Given the description of an element on the screen output the (x, y) to click on. 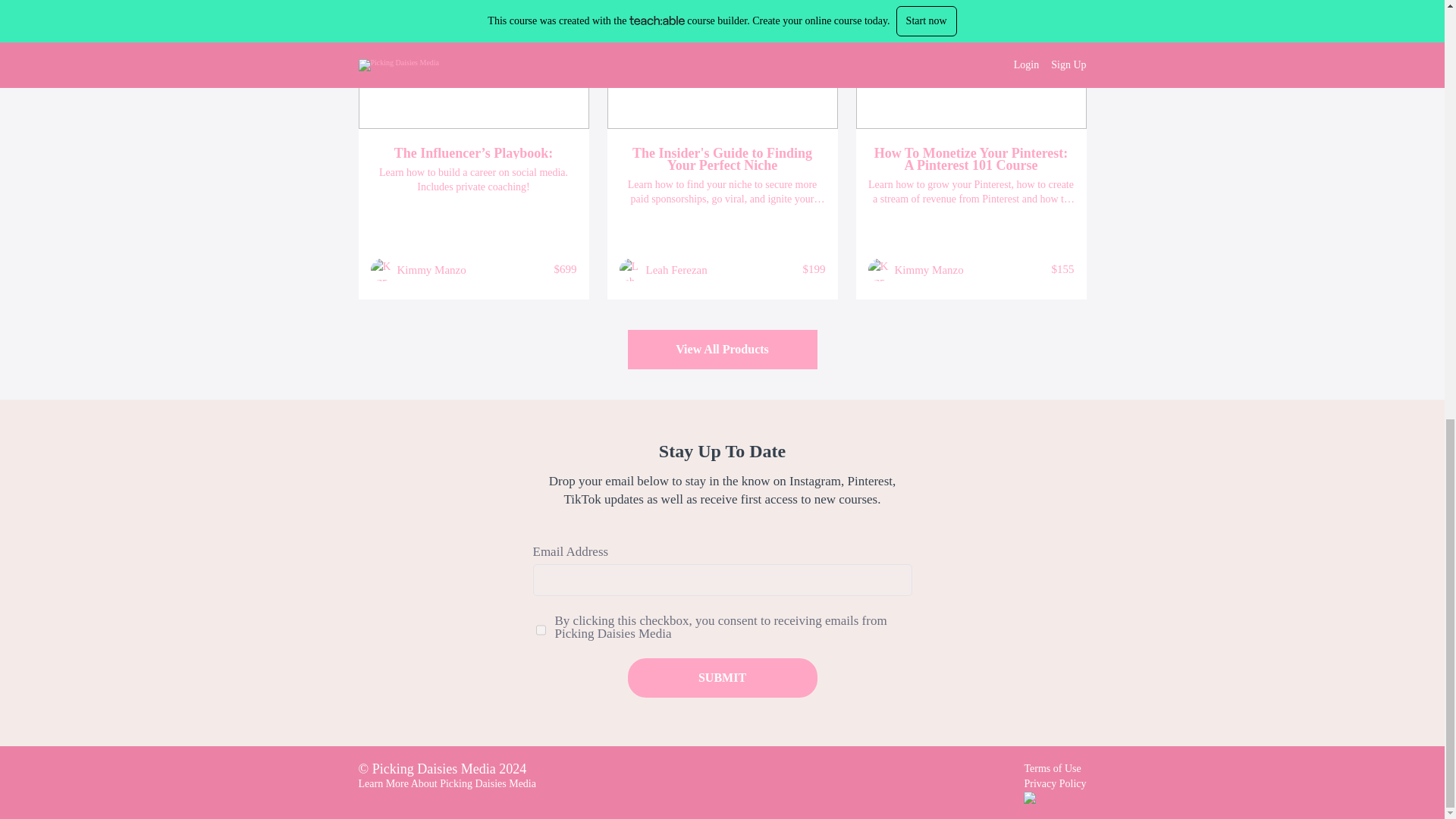
Kimmy Manzo (431, 269)
Privacy Policy (1054, 783)
Kimmy Manzo (929, 269)
SUBMIT (721, 677)
Learn More About Picking Daisies Media (446, 783)
Leah Ferezan (676, 269)
View All Products (721, 349)
The Insider's Guide to Finding Your Perfect Niche (721, 159)
